Given the description of an element on the screen output the (x, y) to click on. 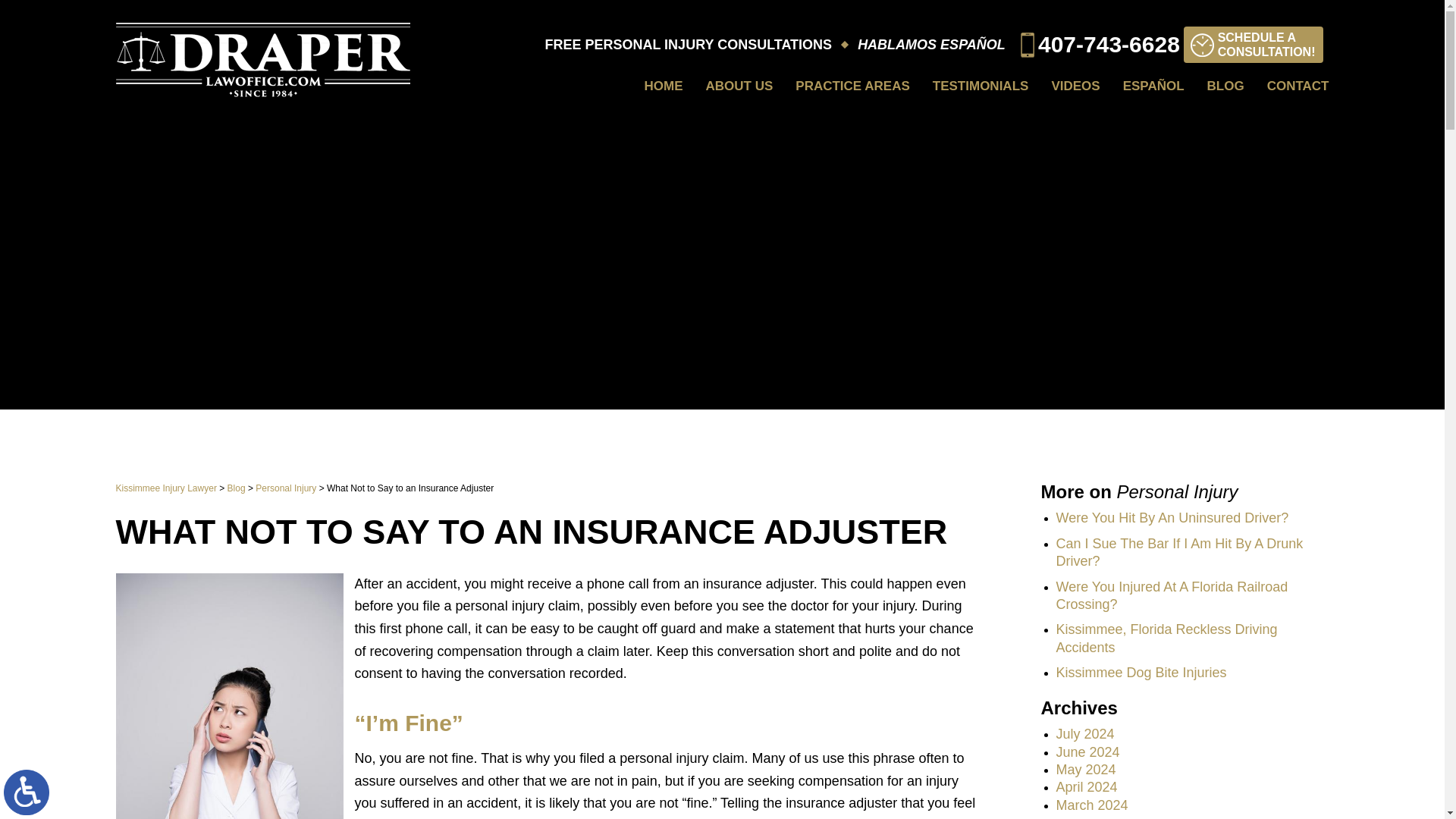
407-743-6628 (1099, 44)
Blog (1253, 44)
CONTACT (236, 488)
BLOG (1297, 85)
HOME (1225, 85)
Kissimmee Injury Lawyer (663, 85)
VIDEOS (165, 488)
Personal Injury (1075, 85)
ABOUT US (285, 488)
PRACTICE AREAS (739, 85)
TESTIMONIALS (852, 85)
Switch to ADA Accessible Theme (981, 85)
